Given the description of an element on the screen output the (x, y) to click on. 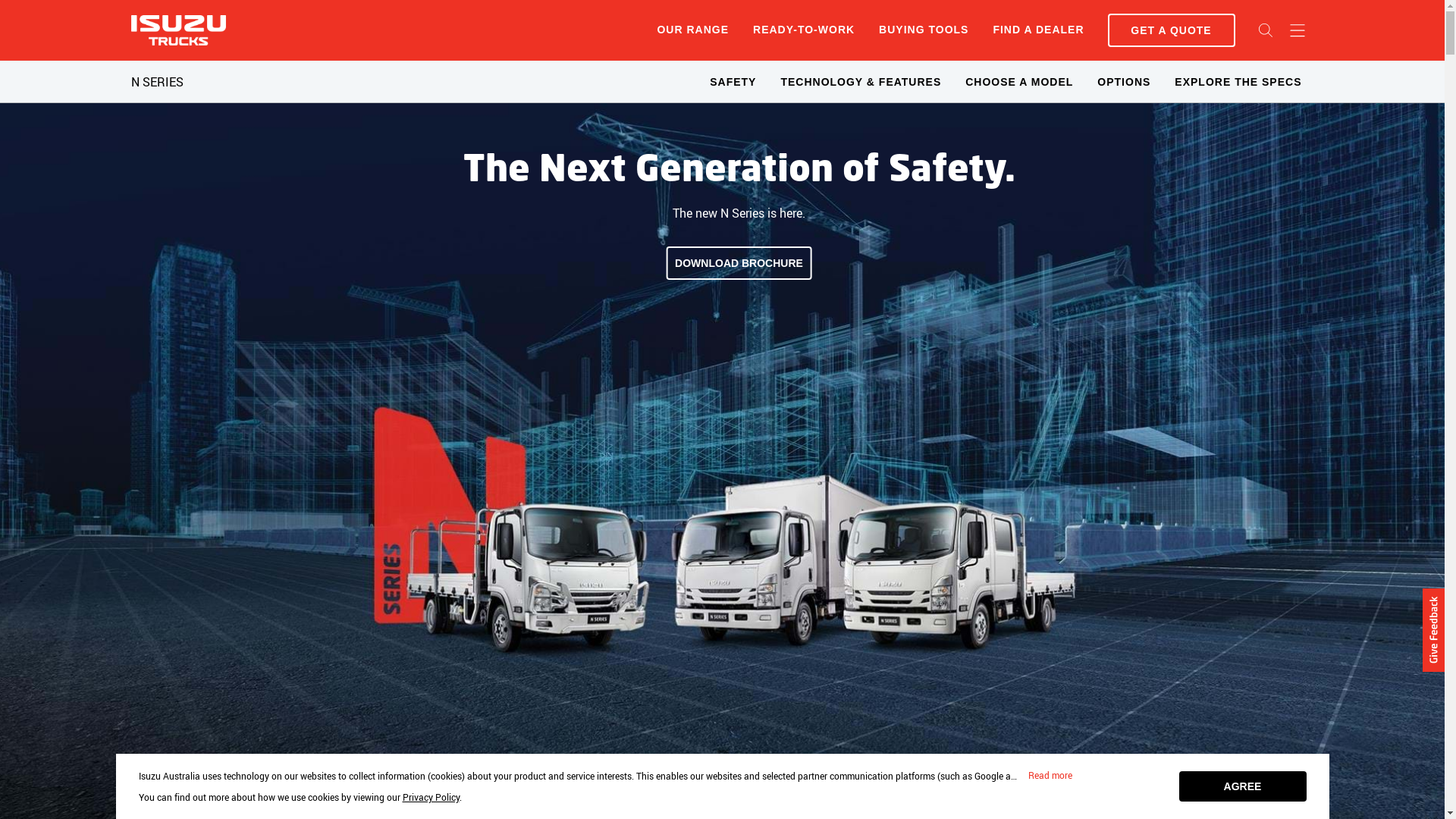
Read more Element type: text (1049, 775)
OUR RANGE Element type: text (692, 29)
CHOOSE A MODEL Element type: text (1019, 81)
BUYING TOOLS Element type: text (923, 30)
AGREE Element type: text (1241, 786)
DOWNLOAD BROCHURE Element type: text (738, 262)
SAFETY Element type: text (732, 81)
READY-TO-WORK Element type: text (803, 30)
GET A QUOTE Element type: text (1170, 30)
N SERIES Element type: text (156, 81)
EXPLORE THE SPECS Element type: text (1237, 81)
TECHNOLOGY & FEATURES Element type: text (860, 81)
FIND A DEALER Element type: text (1037, 30)
Privacy Policy Element type: text (429, 796)
OPTIONS Element type: text (1123, 81)
